Given the description of an element on the screen output the (x, y) to click on. 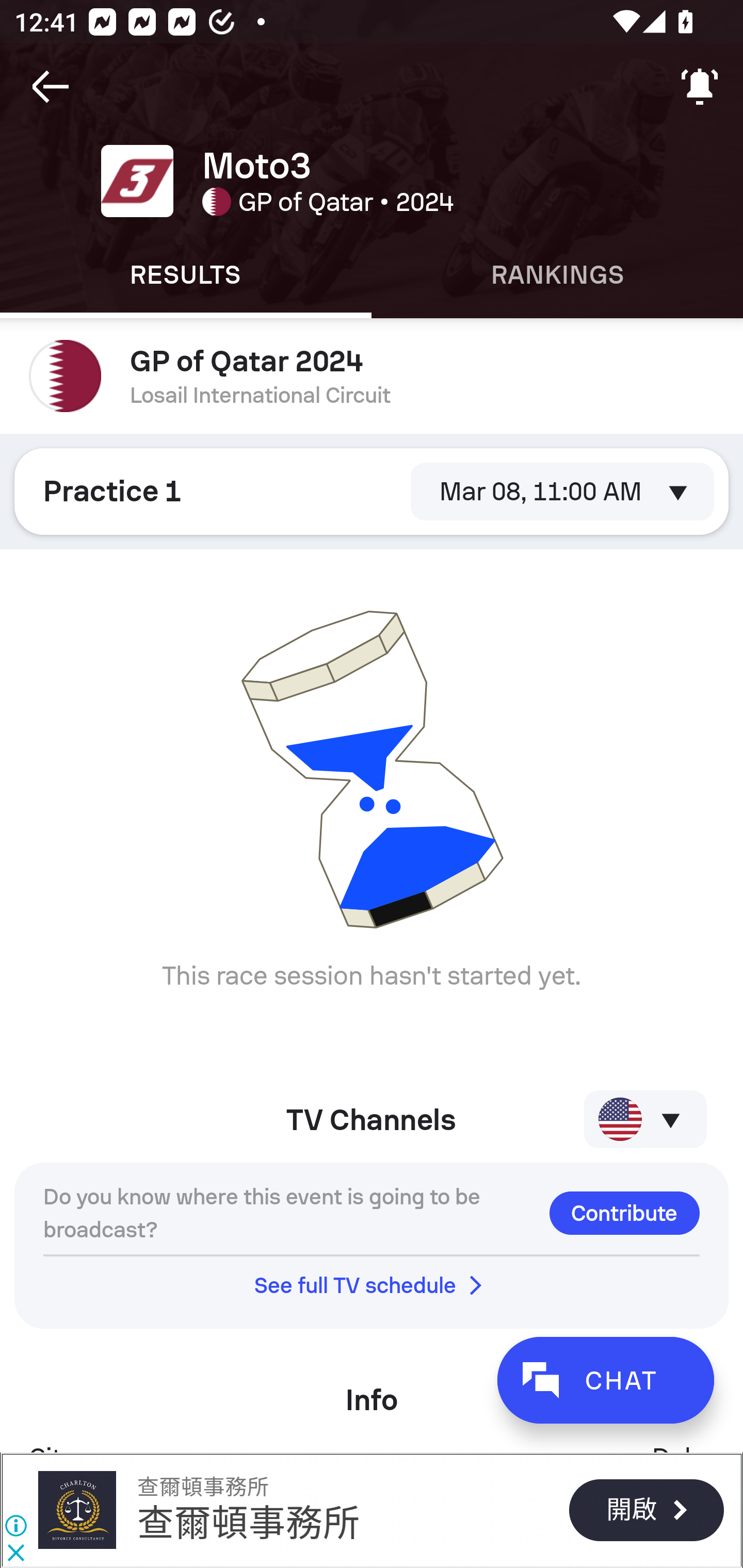
Navigate up (50, 86)
Rankings RANKINGS (557, 275)
Practice 1 Mar 08, 11:00 AM (371, 491)
Mar 08, 11:00 AM (562, 491)
Contribute (624, 1212)
See full TV schedule (371, 1284)
CHAT (605, 1380)
查爾頓事務所 (76, 1509)
查爾頓事務所 (201, 1486)
開啟 (645, 1509)
查爾頓事務所 (248, 1523)
